Given the description of an element on the screen output the (x, y) to click on. 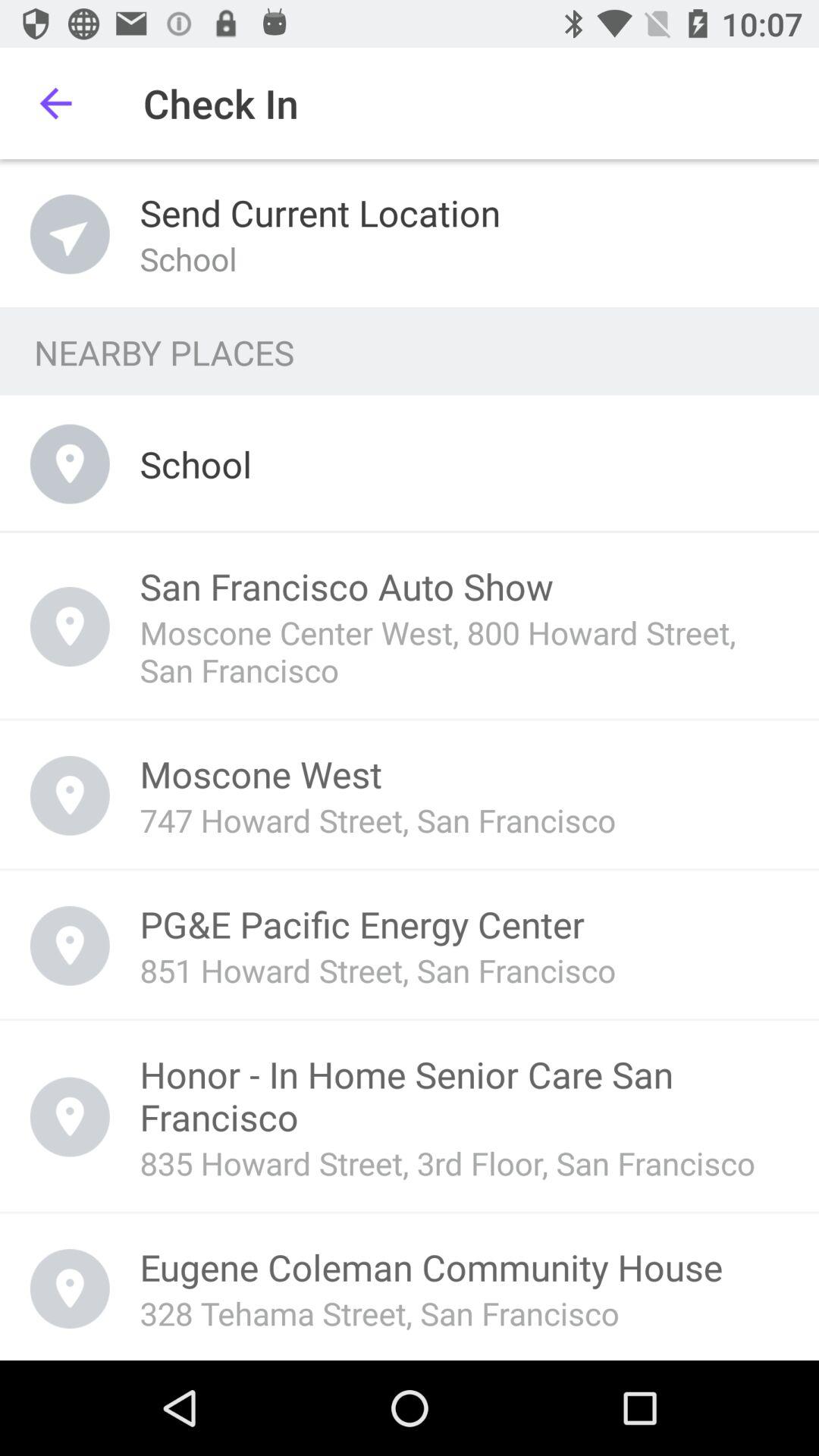
click on location symbol which is next to san francisco auto show (69, 626)
go to left of last option (69, 1289)
select the icon which is before send current location (69, 235)
click on the  first location icon below the nearby places (69, 464)
